Given the description of an element on the screen output the (x, y) to click on. 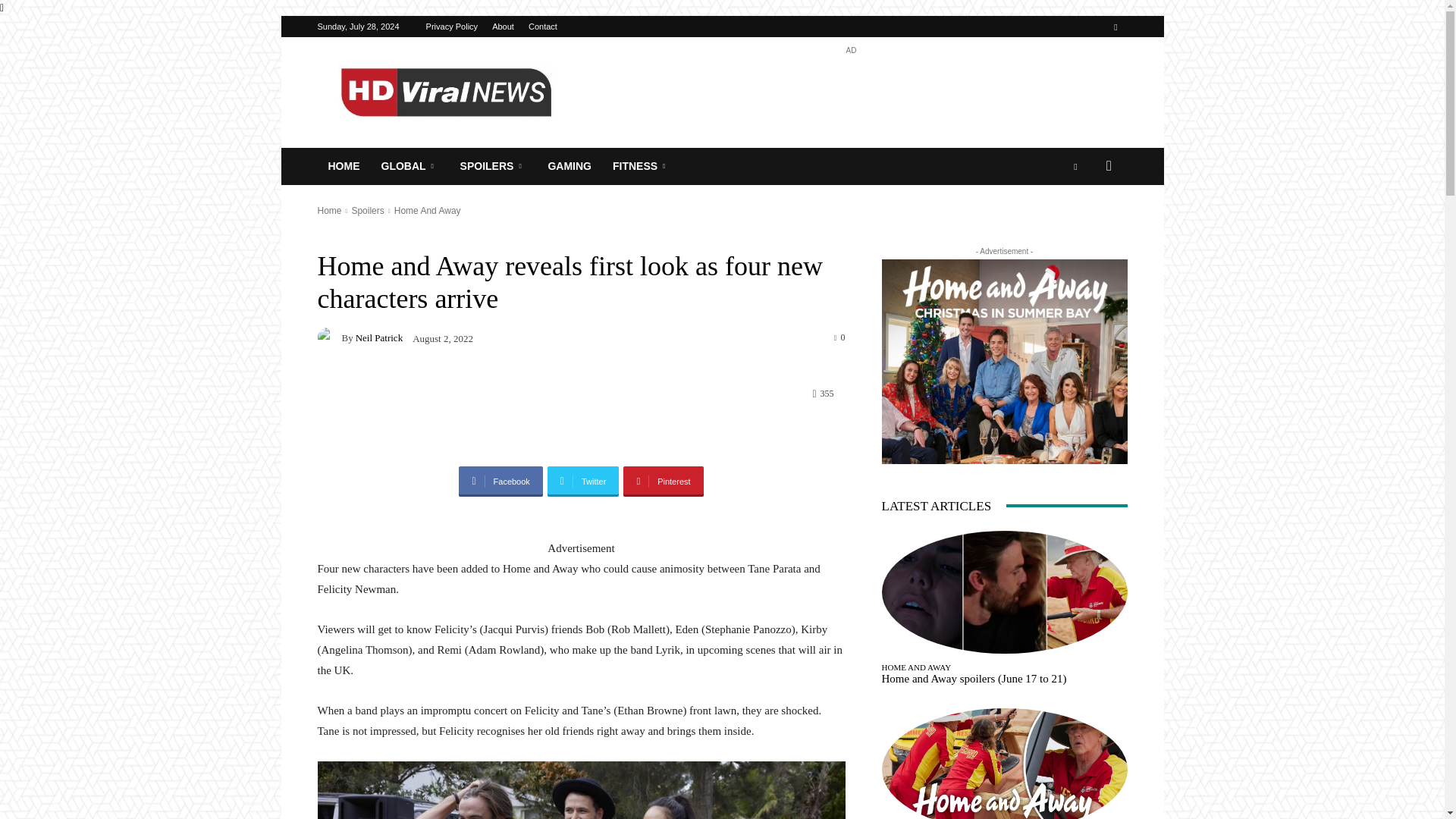
Facebook (1114, 25)
Contact (542, 26)
Advertisement (850, 92)
GLOBAL (408, 166)
Privacy Policy (451, 26)
HOME (343, 166)
SPOILERS (493, 166)
About (502, 26)
